Given the description of an element on the screen output the (x, y) to click on. 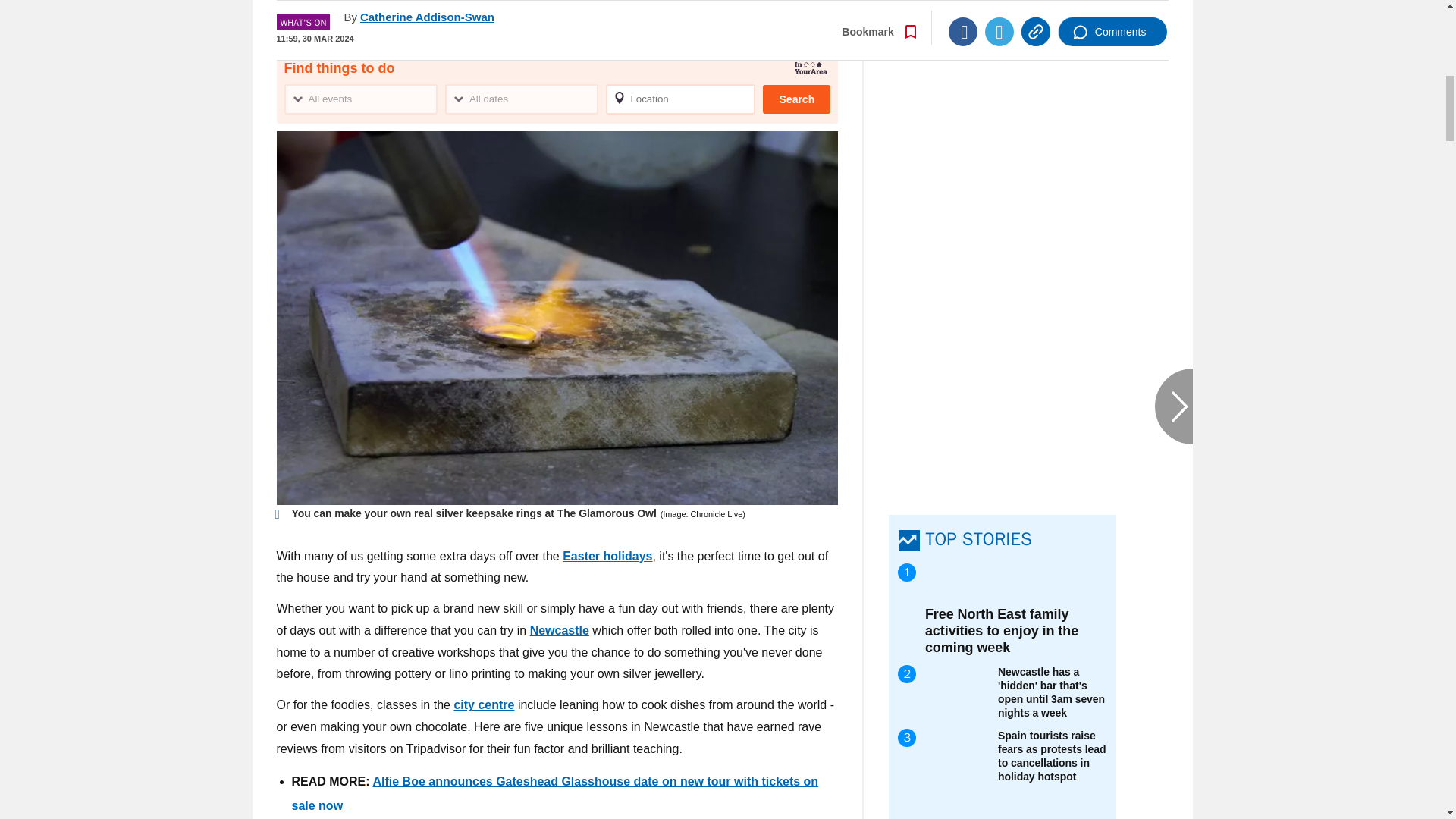
Comments (1112, 10)
Twitter (999, 10)
Facebook (962, 10)
